Given the description of an element on the screen output the (x, y) to click on. 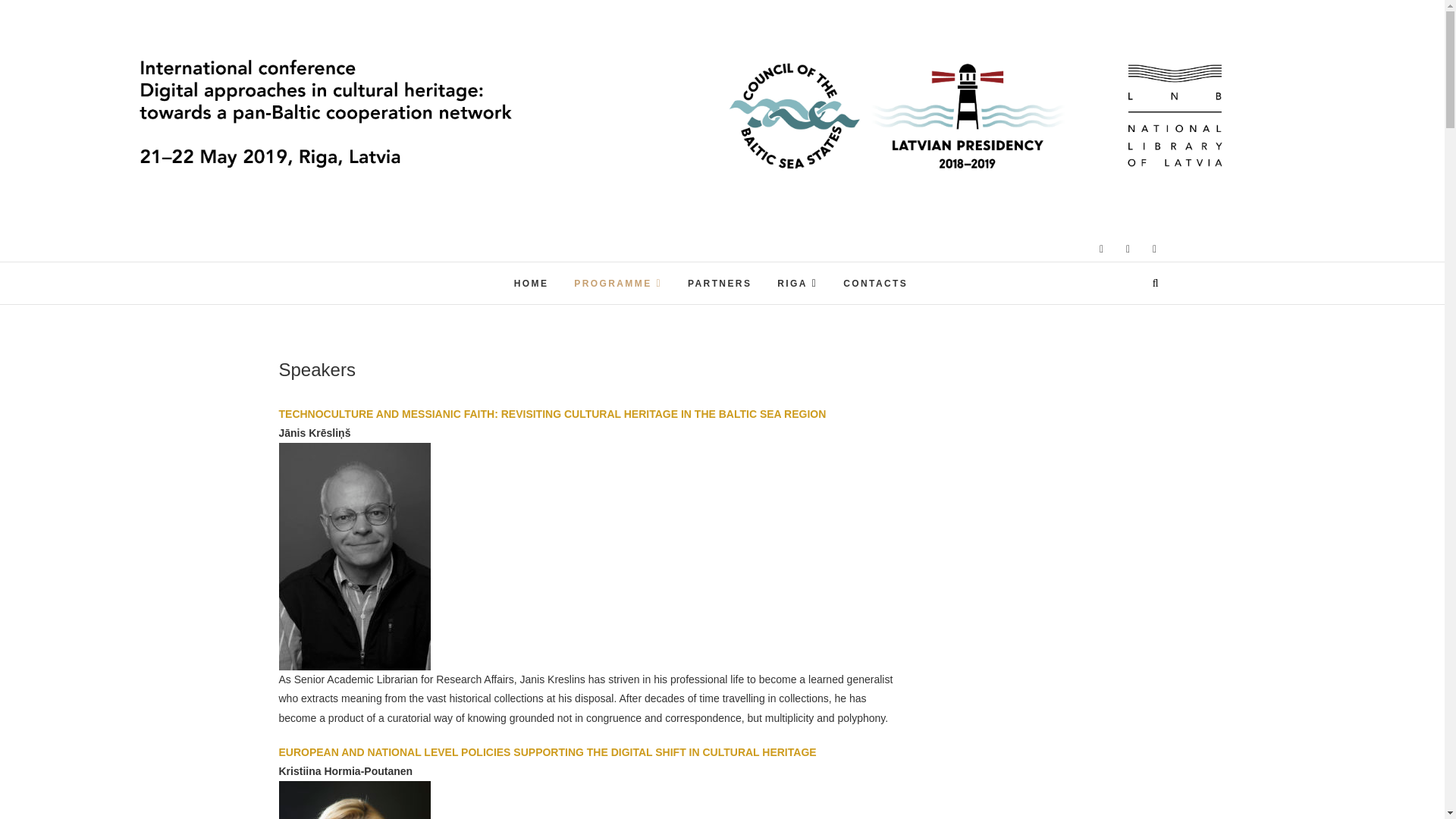
PARTNERS (719, 283)
dach2019.lnb.lv (650, 264)
RIGA (796, 282)
dach2019.lnb.lv (650, 264)
PROGRAMME (617, 282)
CONTACTS (874, 283)
HOME (531, 283)
